Given the description of an element on the screen output the (x, y) to click on. 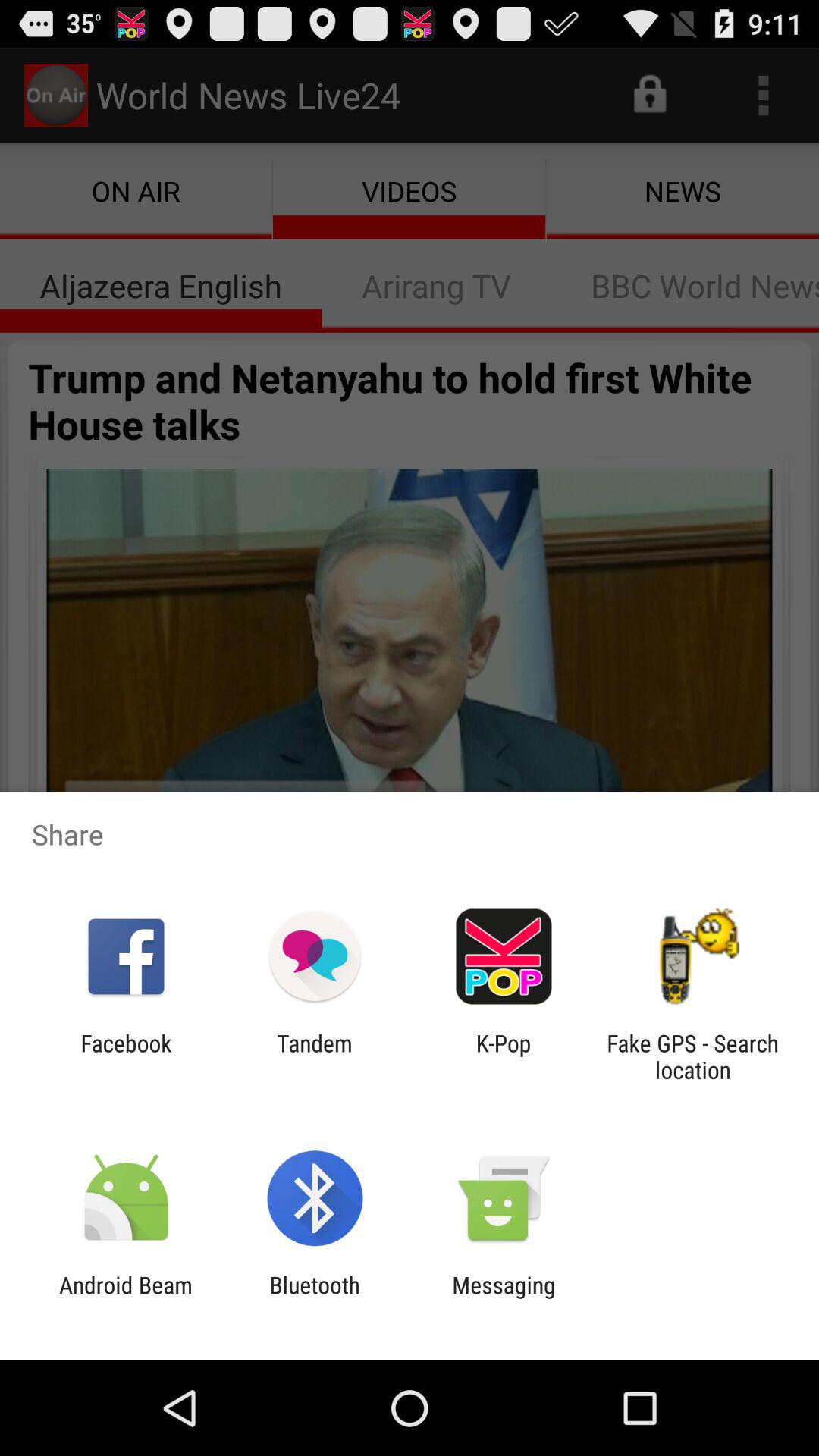
swipe to the tandem item (314, 1056)
